Given the description of an element on the screen output the (x, y) to click on. 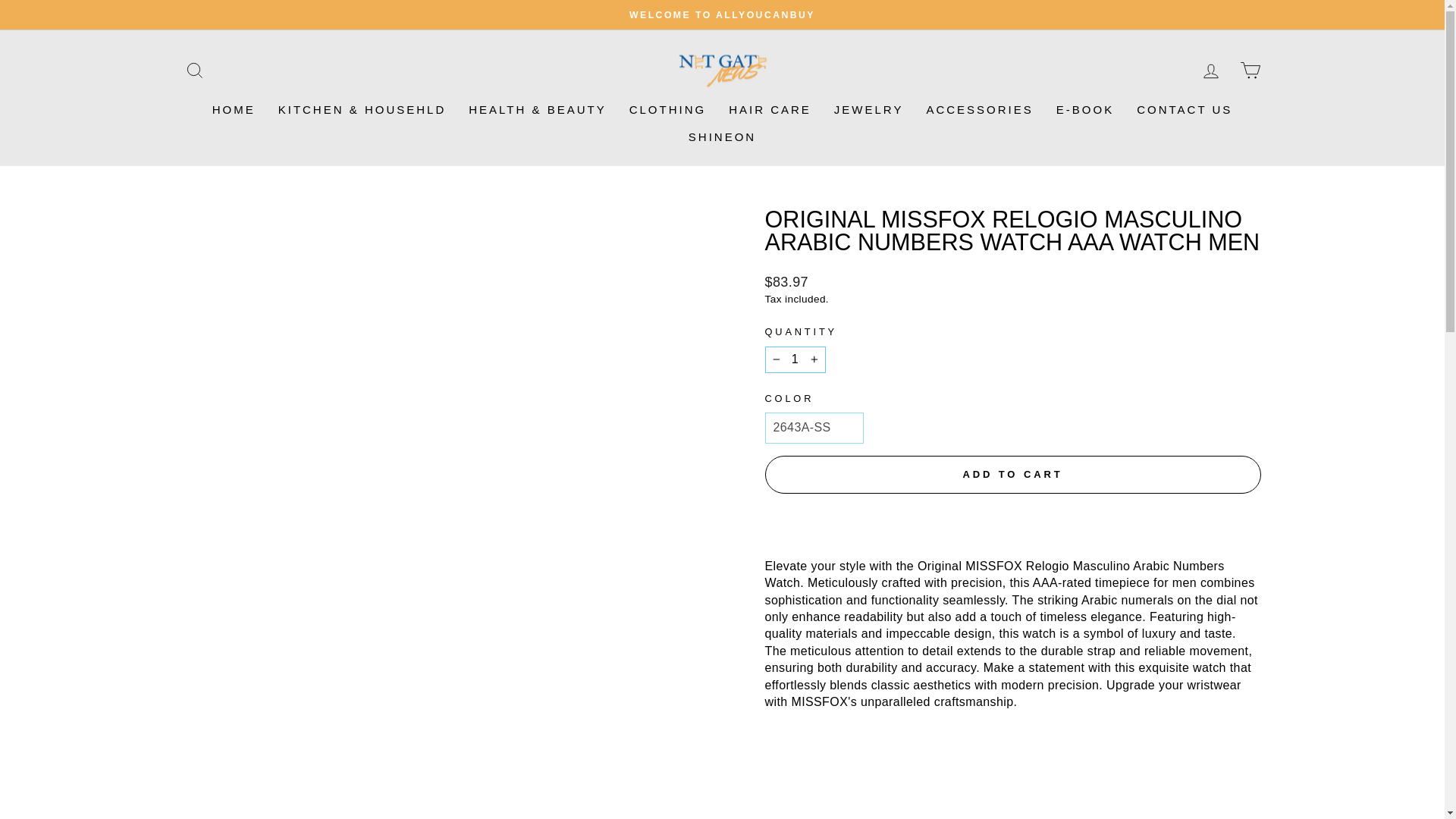
CART (1249, 70)
SEARCH (194, 70)
1 (794, 359)
HOME (233, 109)
LOG IN (1210, 70)
